Given the description of an element on the screen output the (x, y) to click on. 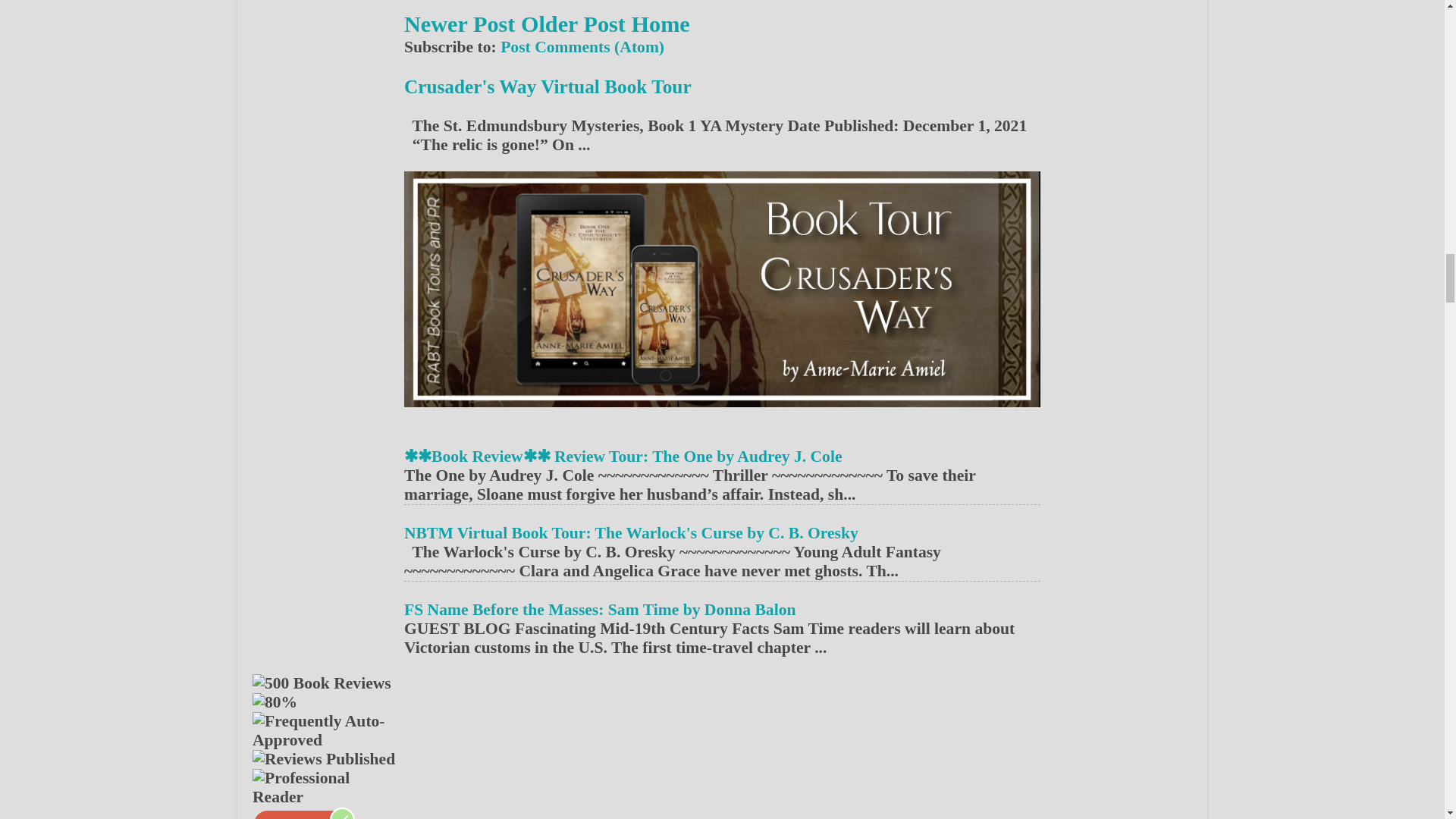
Older Post (573, 23)
500 Book Reviews (321, 683)
Newer Post (459, 23)
Newer Post (459, 23)
Professional Reader (327, 787)
Reviews Published (322, 759)
Home (659, 23)
Frequently Auto-Approved (327, 730)
Older Post (573, 23)
